Given the description of an element on the screen output the (x, y) to click on. 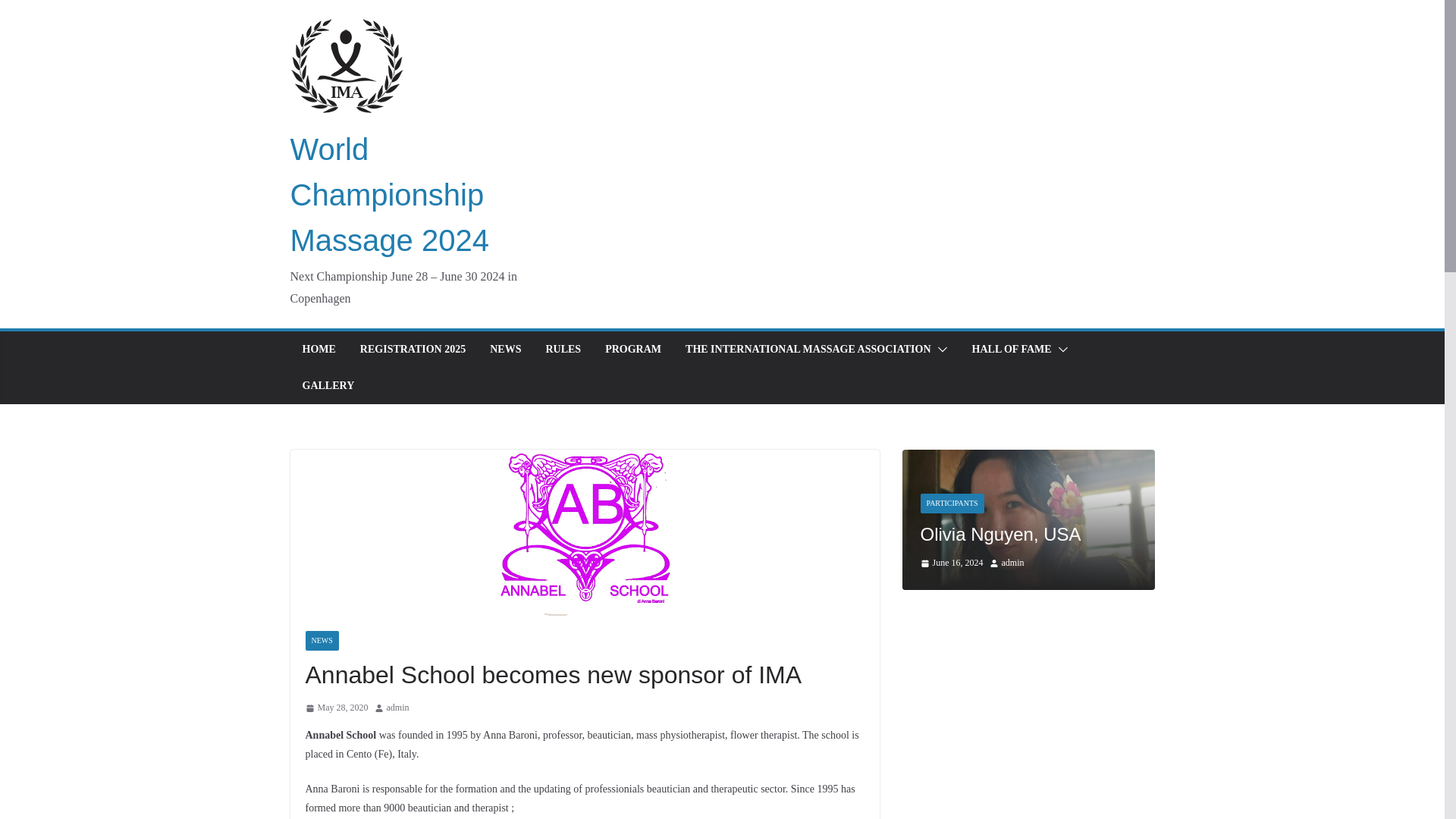
PROGRAM (633, 349)
World Championship Massage 2024 (388, 194)
RULES (562, 349)
12:53 pm (336, 708)
HOME (317, 349)
HALL OF FAME (1011, 349)
World Championship Massage 2024 (388, 194)
THE INTERNATIONAL MASSAGE ASSOCIATION (808, 349)
NEWS (505, 349)
admin (398, 708)
REGISTRATION 2025 (412, 349)
